Given the description of an element on the screen output the (x, y) to click on. 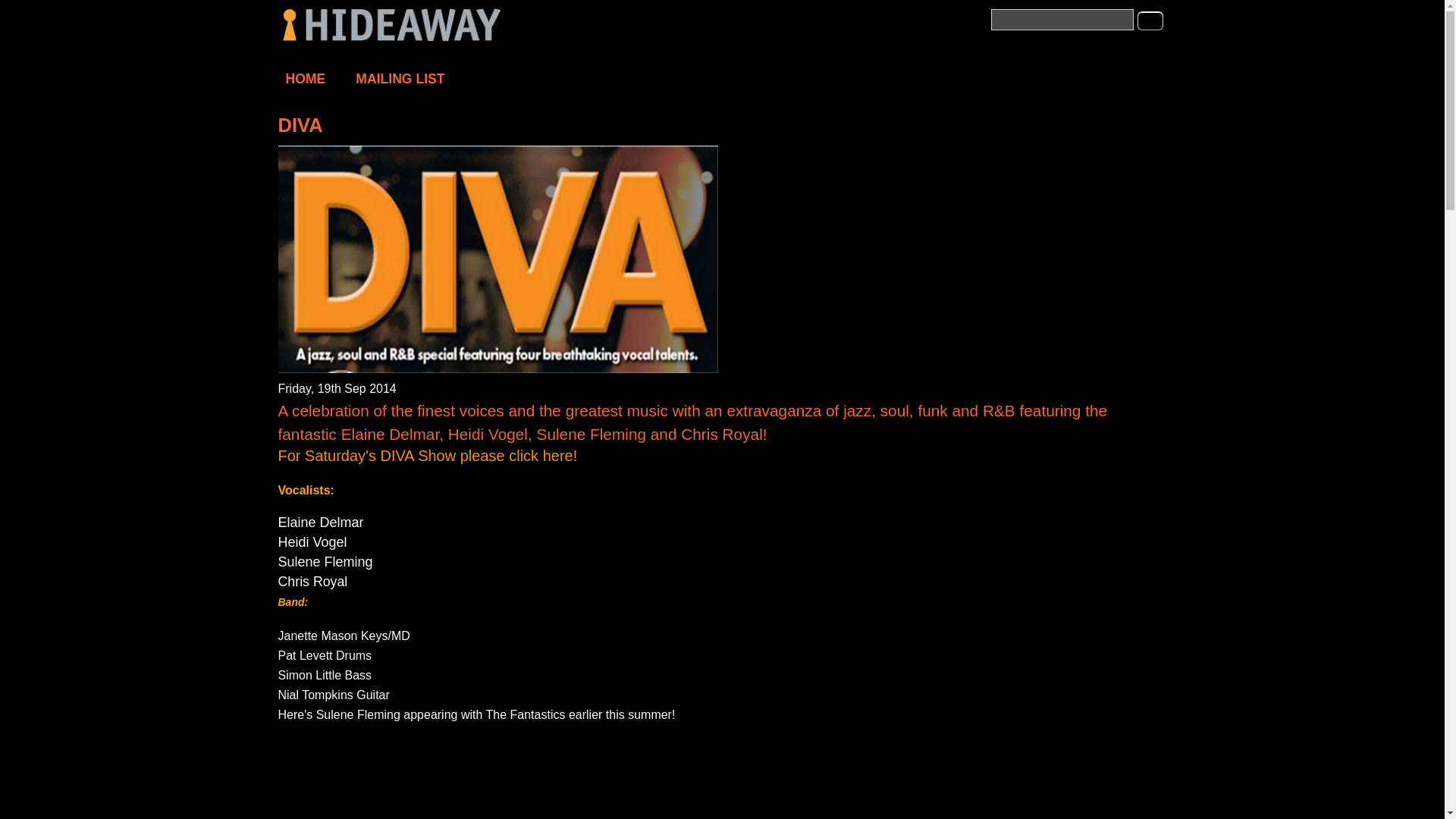
Enter the terms you wish to search for. (1061, 19)
HOME (304, 78)
Home (392, 39)
For Saturday's DIVA Show please click here! (427, 456)
Search (1150, 20)
MAILING LIST (399, 78)
Search (1150, 20)
